Given the description of an element on the screen output the (x, y) to click on. 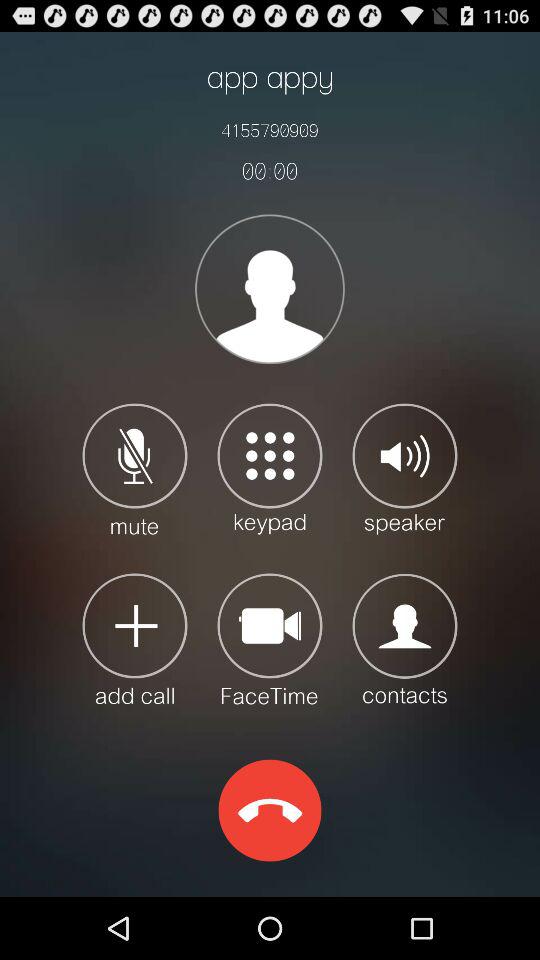
open keypad (269, 468)
